Given the description of an element on the screen output the (x, y) to click on. 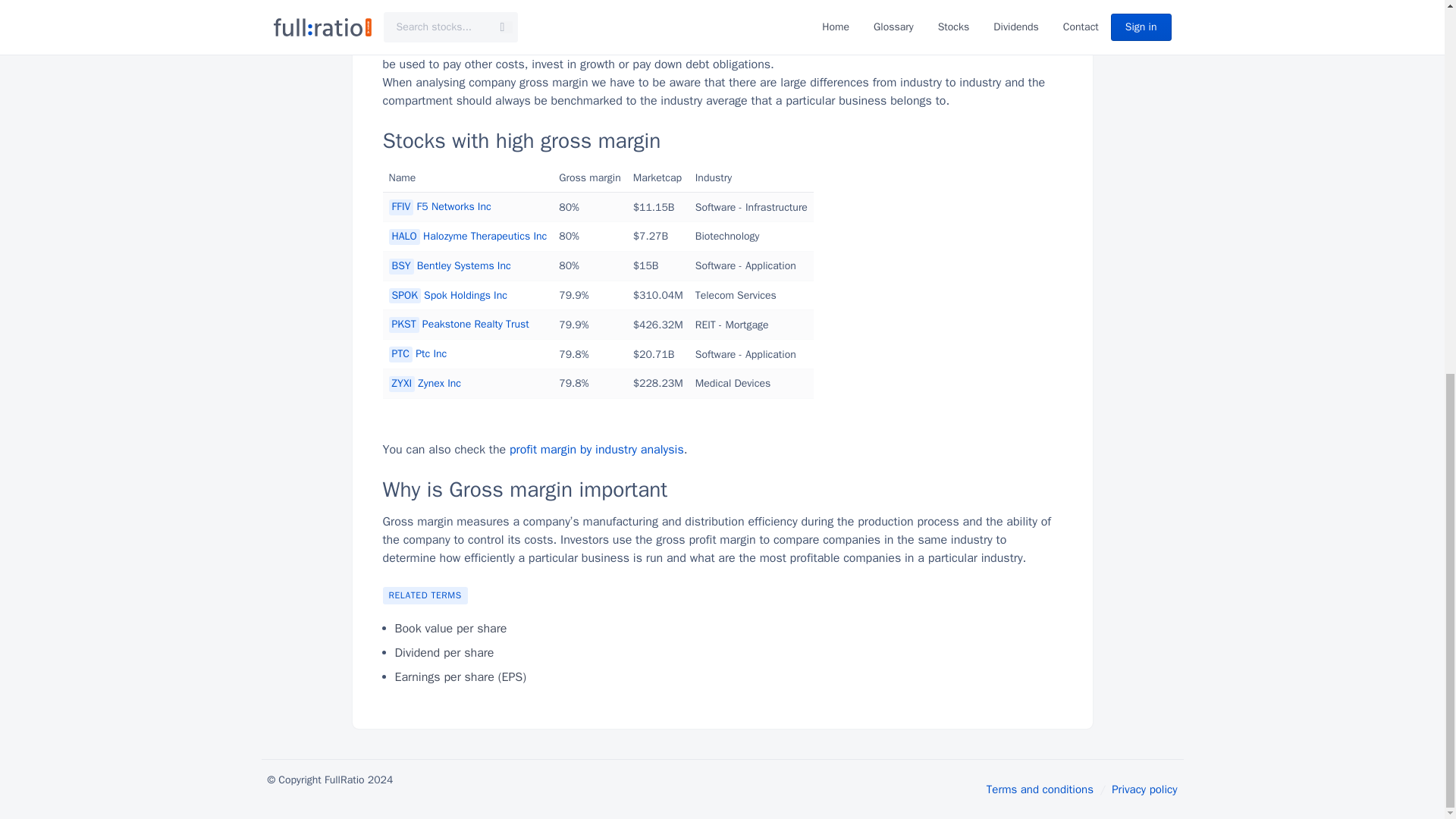
profit margin by industry analysis (596, 449)
Terms and conditions (1040, 789)
FFIV F5 Networks Inc (439, 205)
SPOK Spok Holdings Inc (447, 295)
PKST Peakstone Realty Trust (458, 323)
HALO Halozyme Therapeutics Inc (467, 236)
PTC Ptc Inc (417, 353)
Privacy policy (1144, 789)
ZYXI Zynex Inc (424, 382)
Dividend per share (443, 652)
